Given the description of an element on the screen output the (x, y) to click on. 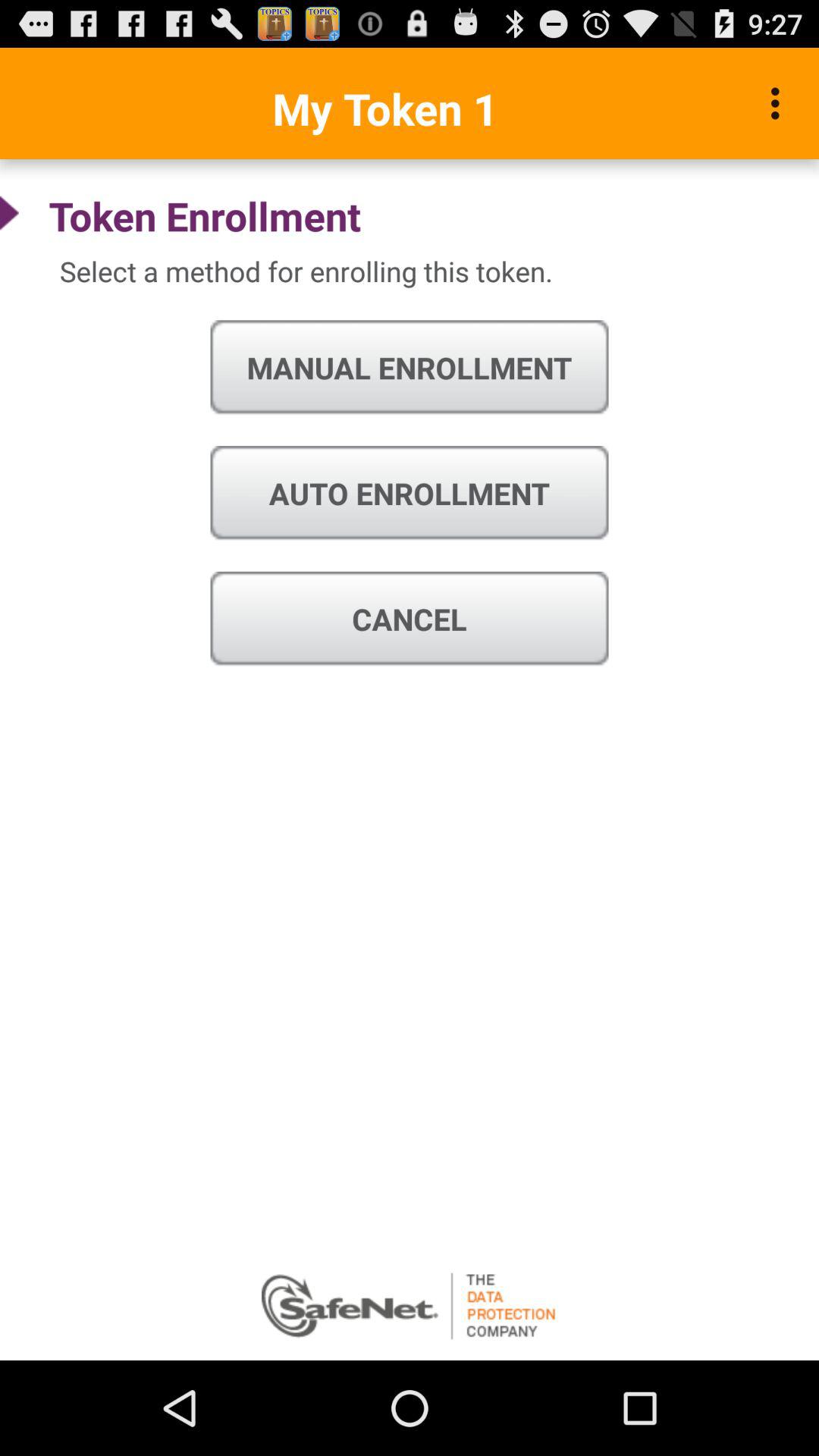
select icon above auto enrollment (409, 367)
